Given the description of an element on the screen output the (x, y) to click on. 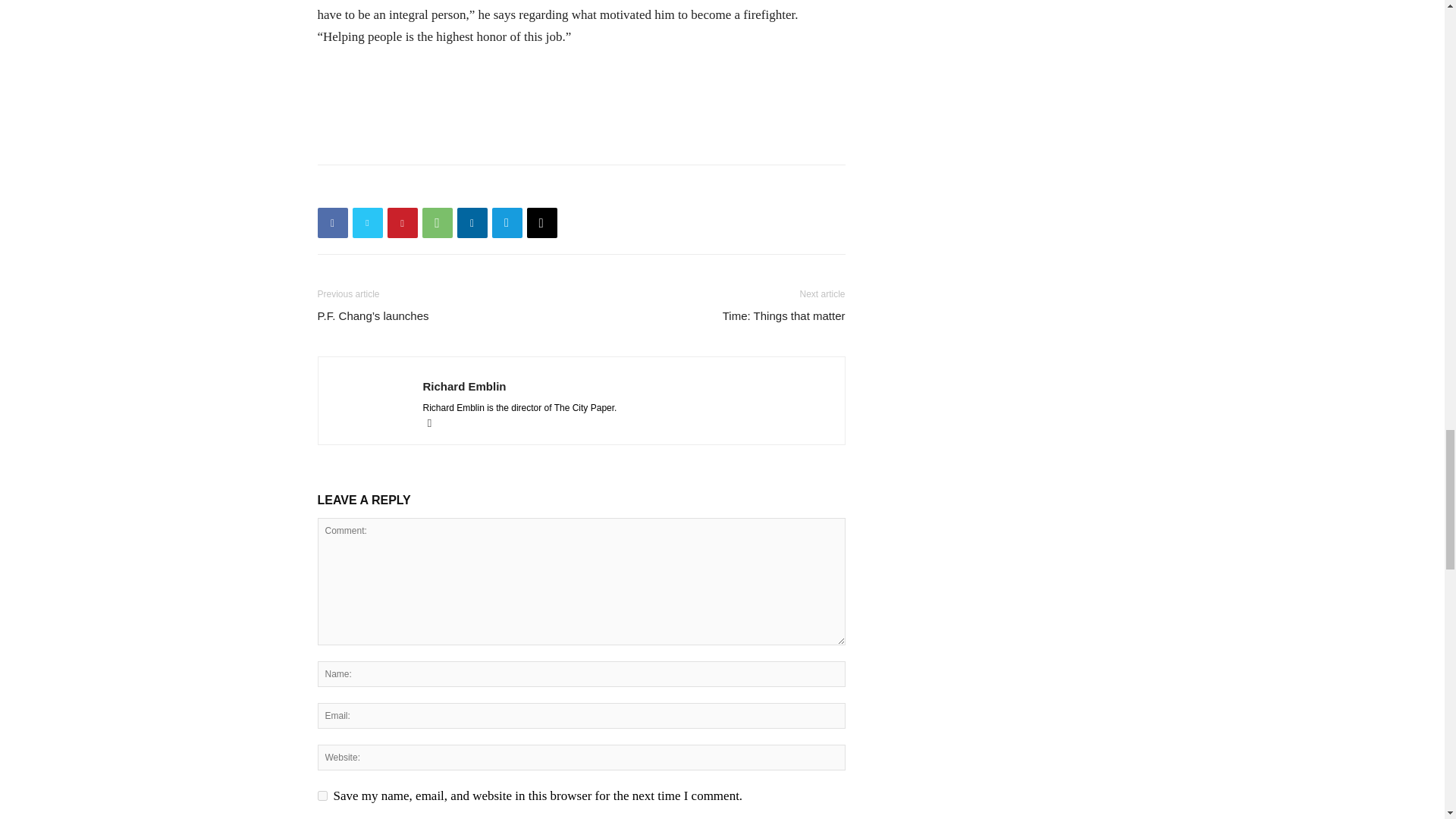
yes (321, 795)
